Given the description of an element on the screen output the (x, y) to click on. 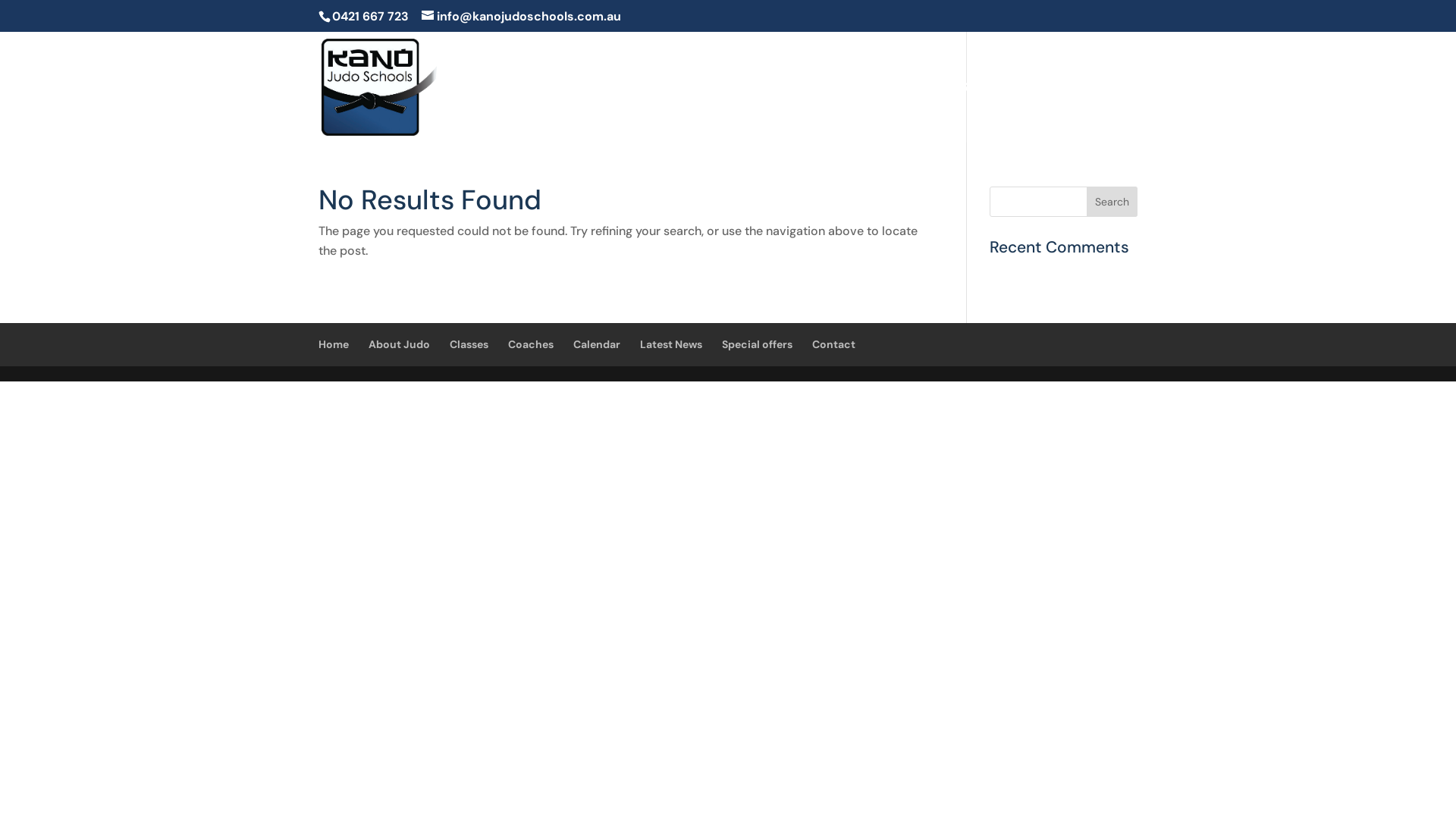
Classes Element type: text (468, 344)
Search Element type: text (1111, 201)
Latest News Element type: text (671, 344)
SPECIAL OFFERS Element type: text (1009, 111)
CONTACT Element type: text (1107, 111)
info@kanojudoschools.com.au Element type: text (521, 16)
Coaches Element type: text (530, 344)
Special offers Element type: text (756, 344)
CALENDAR Element type: text (806, 111)
About Judo Element type: text (398, 344)
LATEST NEWS Element type: text (899, 111)
Calendar Element type: text (596, 344)
Home Element type: text (333, 344)
Contact Element type: text (833, 344)
ABOUT JUDO Element type: text (565, 111)
CLASSES Element type: text (650, 111)
COACHES Element type: text (726, 111)
HOME Element type: text (488, 111)
